Given the description of an element on the screen output the (x, y) to click on. 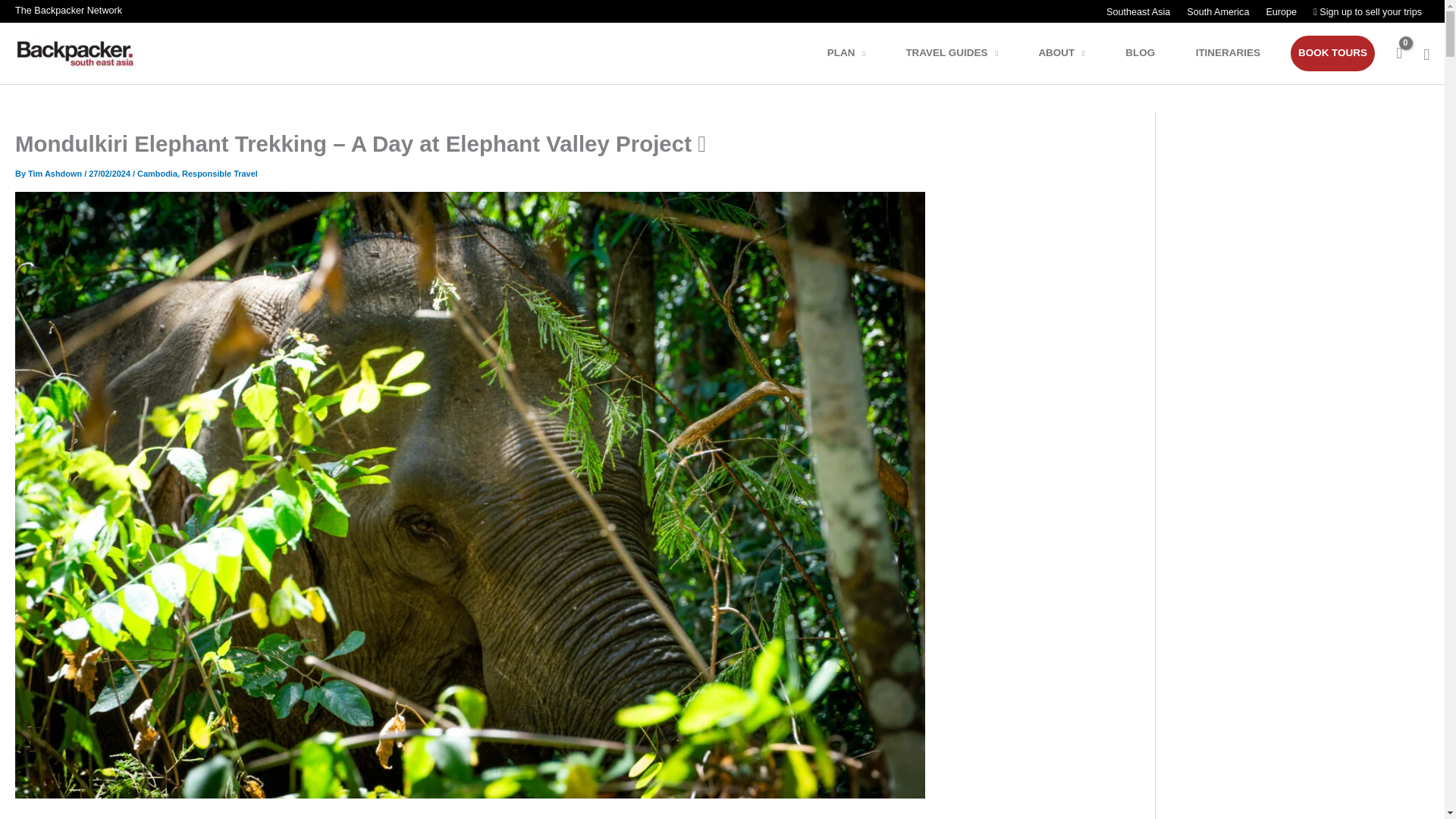
South America (1216, 12)
Europe (1280, 12)
PLAN (855, 53)
BLOG (1150, 53)
Southeast Asia (1137, 12)
ABOUT (1071, 53)
TRAVEL GUIDES (961, 53)
ITINERARIES (1237, 53)
BOOK TOURS (1332, 53)
View all posts by Tim Ashdown (55, 173)
